Given the description of an element on the screen output the (x, y) to click on. 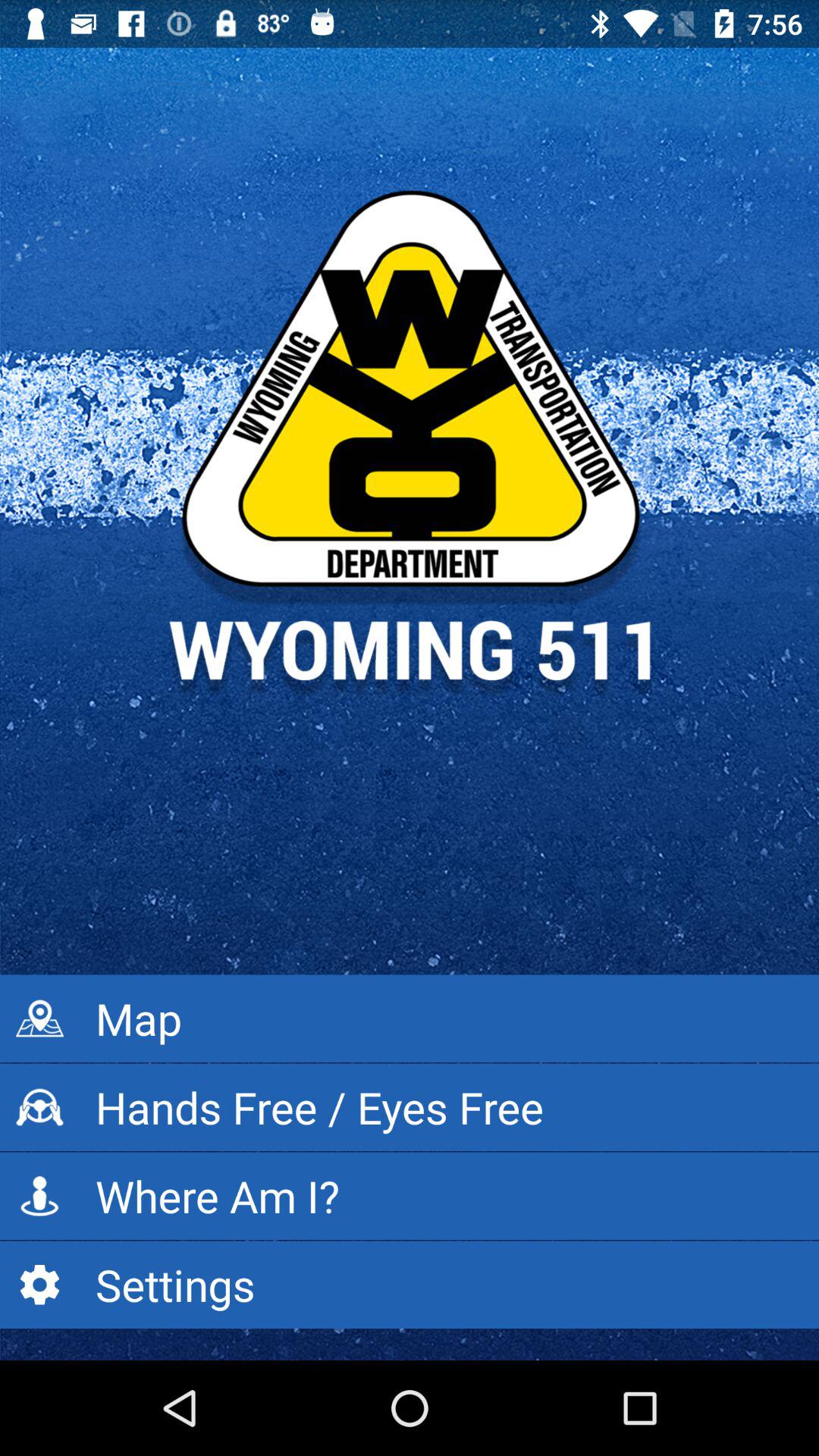
swipe to settings app (409, 1284)
